Given the description of an element on the screen output the (x, y) to click on. 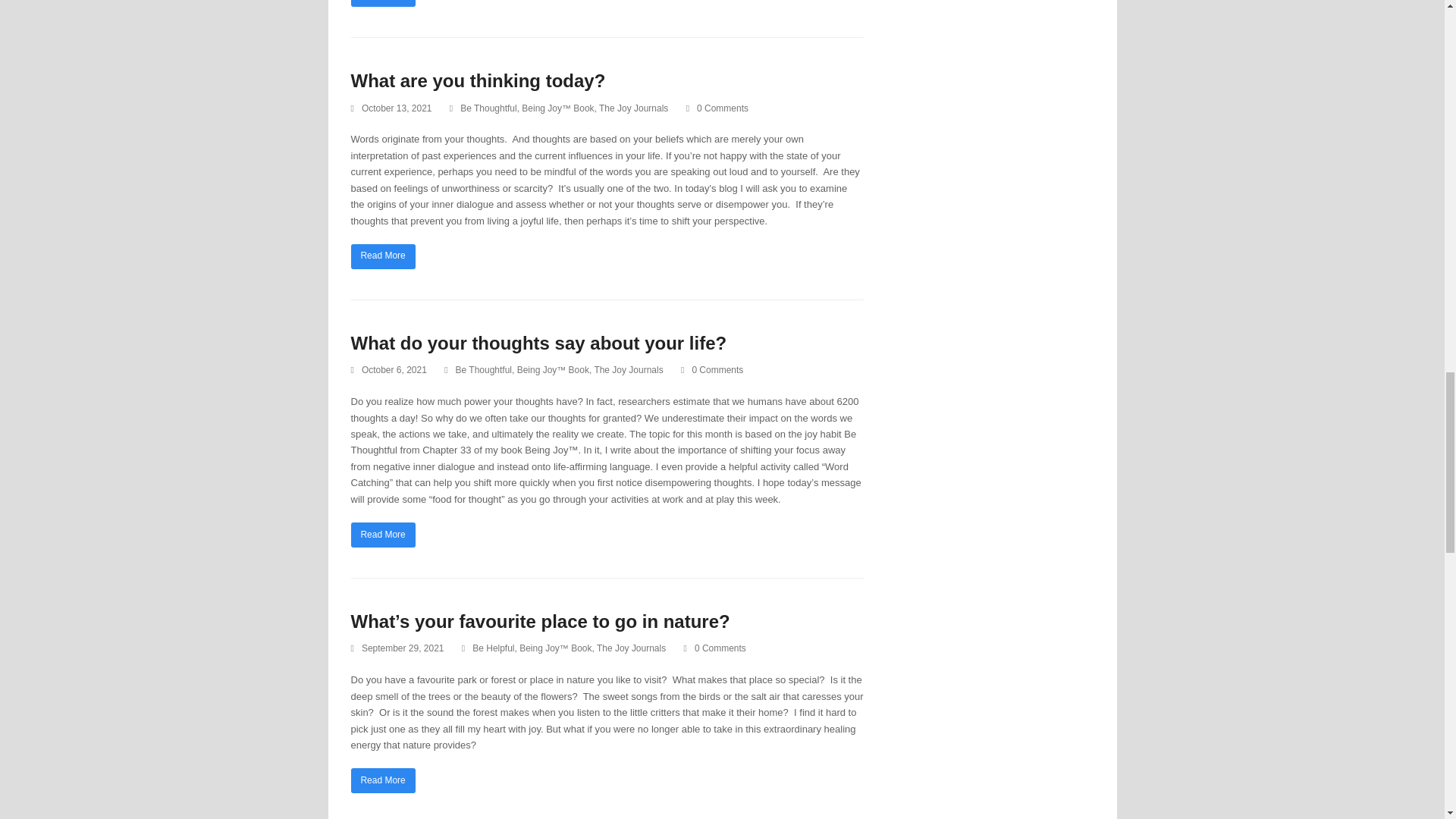
0 Comments (714, 648)
0 Comments (711, 370)
0 Comments (716, 109)
